Given the description of an element on the screen output the (x, y) to click on. 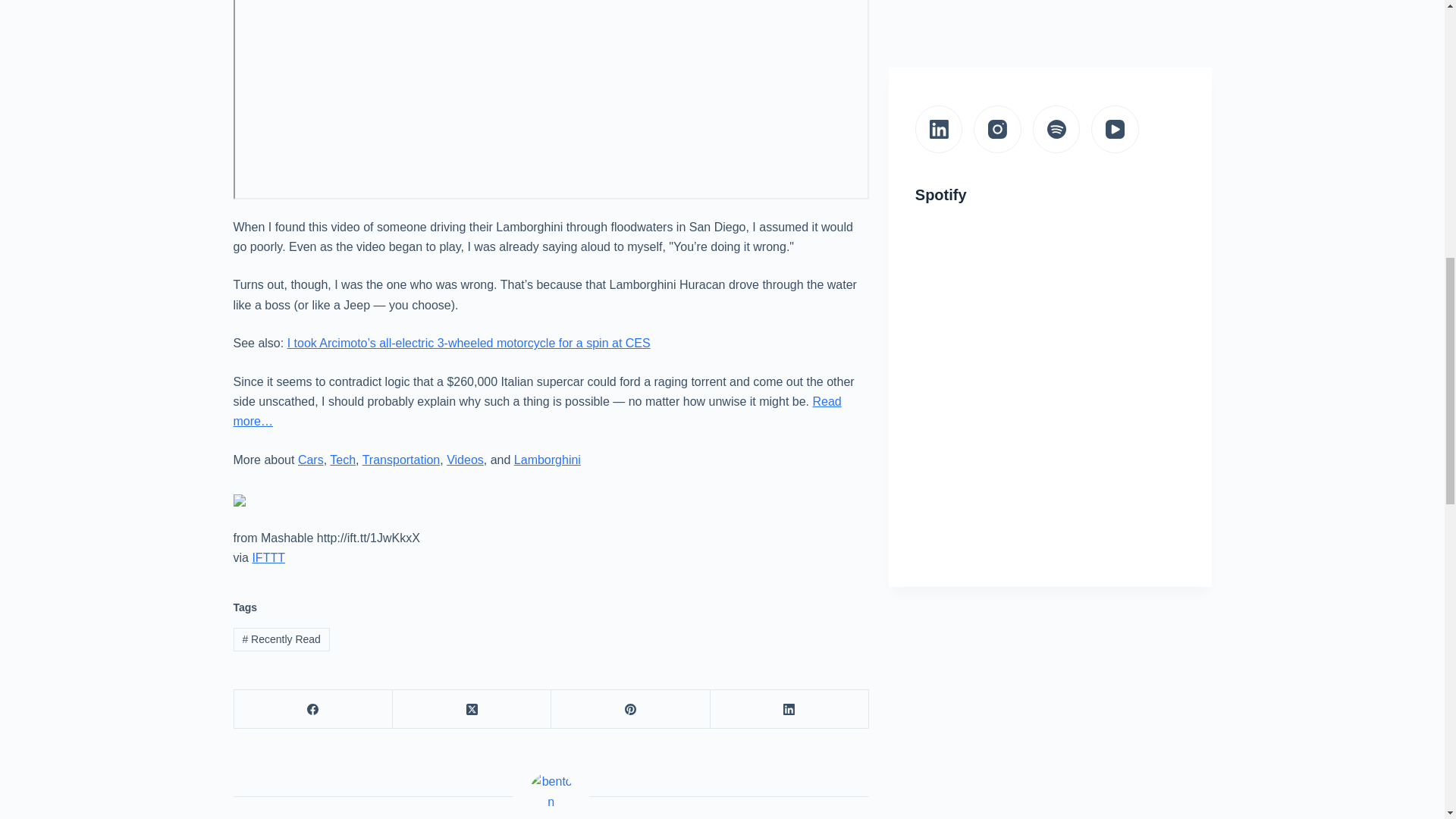
Tech (342, 459)
Cars (310, 459)
Videos (464, 459)
Lamborghini (546, 459)
IFTTT (268, 557)
Transportation (401, 459)
